Given the description of an element on the screen output the (x, y) to click on. 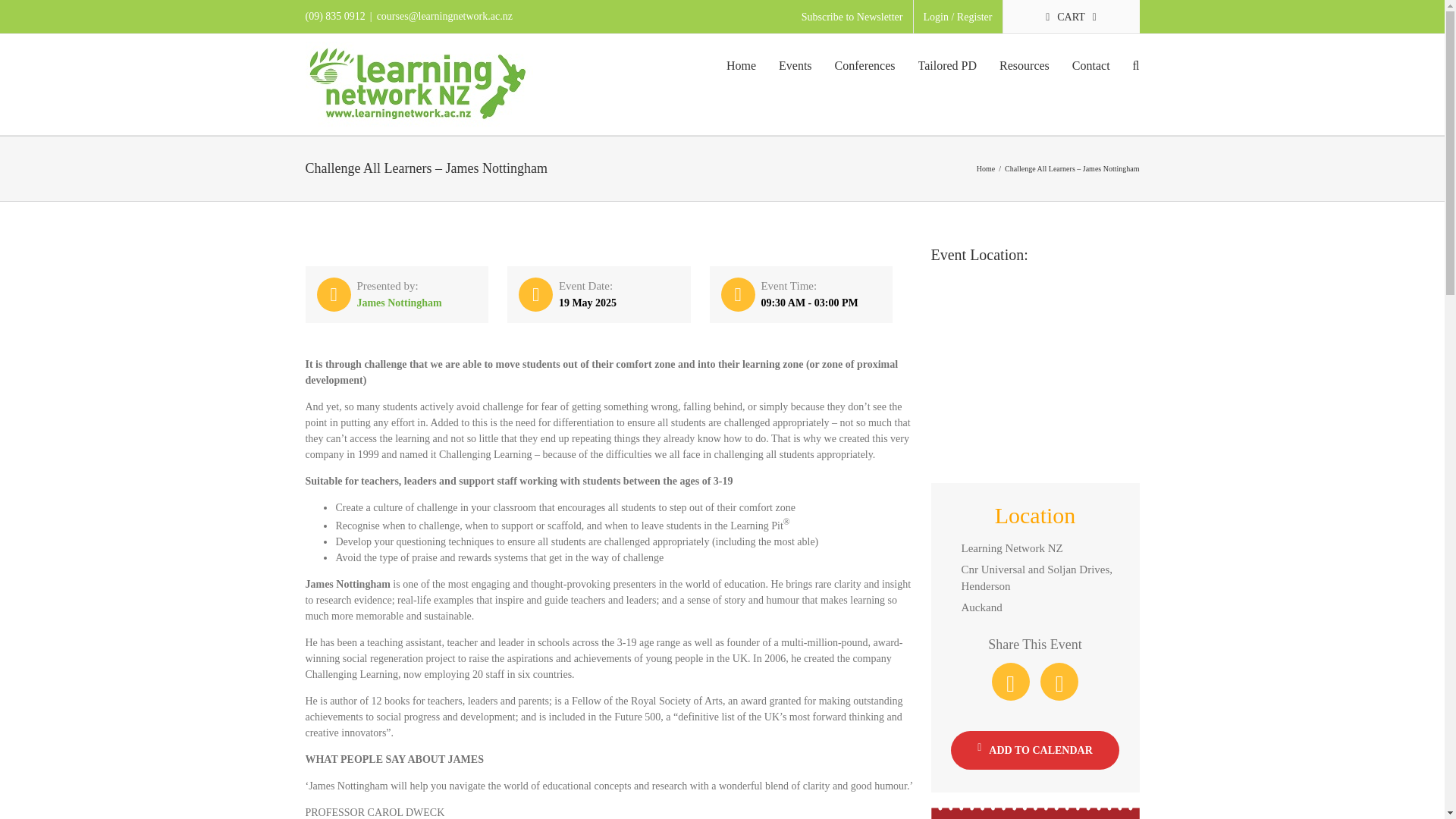
Tailored PD (947, 65)
Resources (1023, 65)
Search (1136, 65)
Home (740, 65)
Contact (1090, 65)
CART (1070, 16)
Conferences (864, 65)
Subscribe to Newsletter (852, 16)
Events (795, 65)
